Given the description of an element on the screen output the (x, y) to click on. 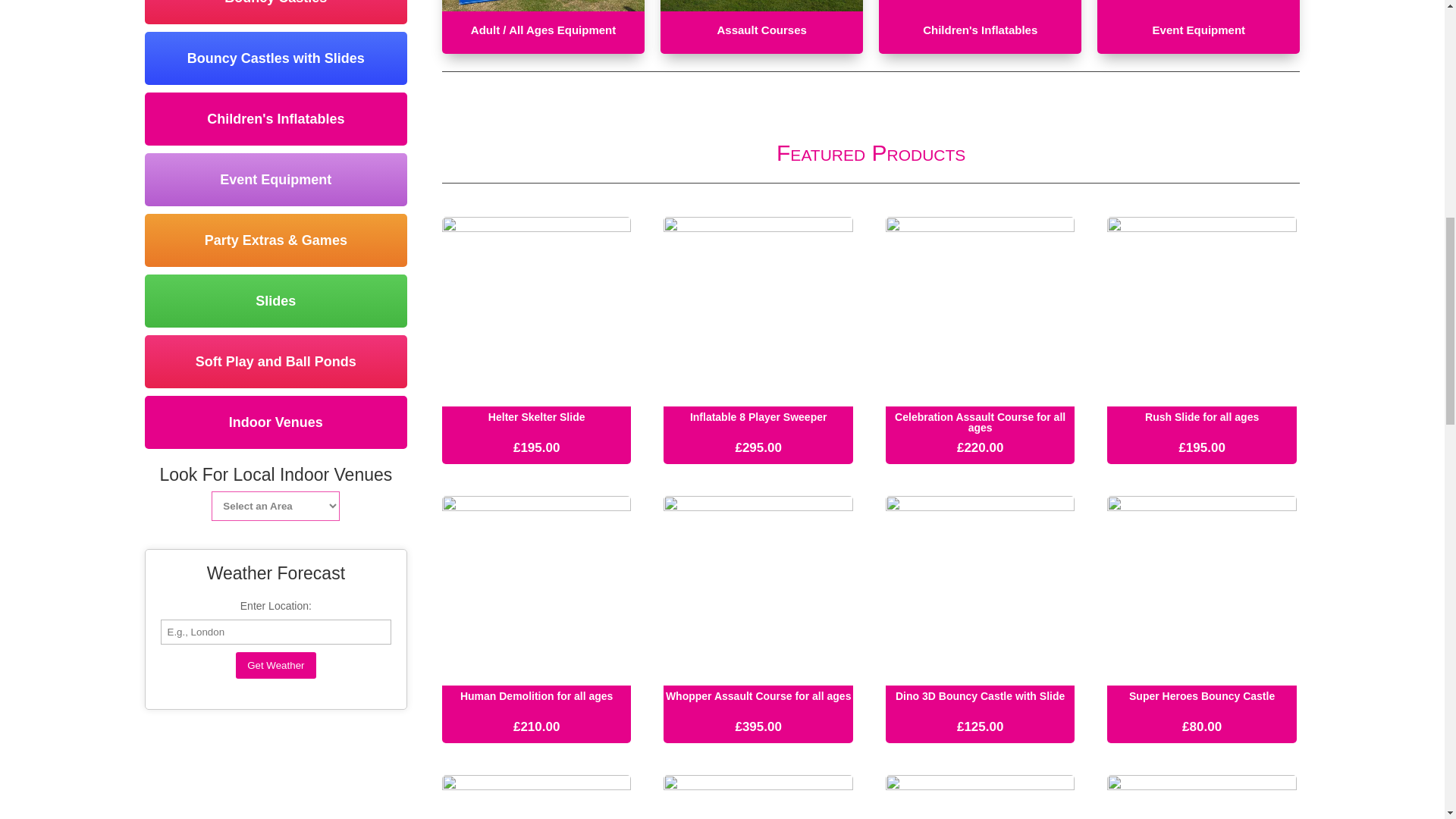
Bouncy Castles (275, 12)
Children's Inflatables (275, 118)
Event Equipment (275, 179)
Bouncy Castles with Slides (275, 58)
Slides (275, 300)
